Given the description of an element on the screen output the (x, y) to click on. 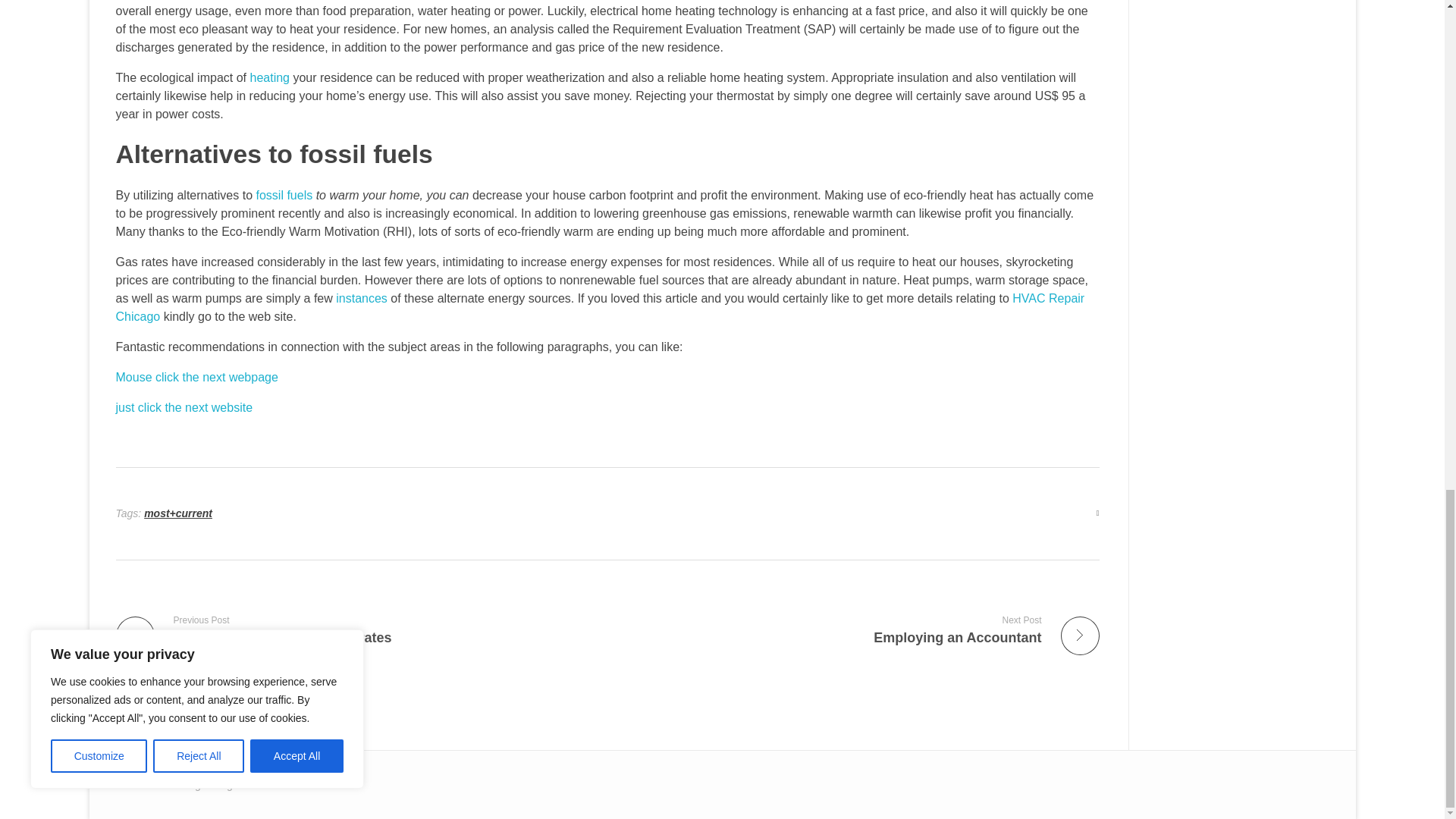
just click the next website (183, 407)
HVAC Repair Chicago (859, 629)
instances (599, 306)
heating (355, 629)
fossil fuels (361, 297)
Mouse click the next webpage (268, 77)
